Given the description of an element on the screen output the (x, y) to click on. 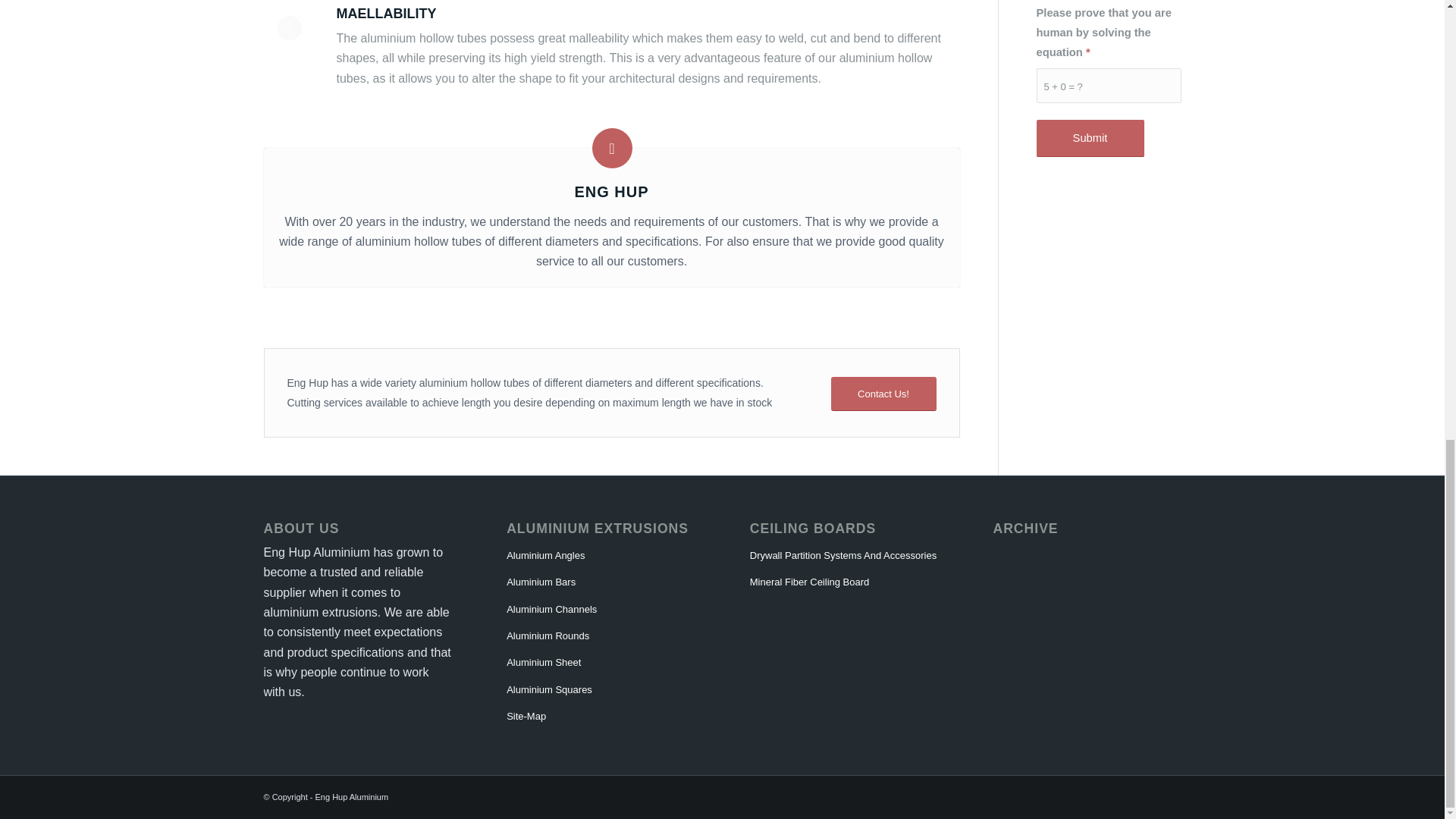
Submit (1088, 138)
Submit (1088, 138)
Contact Us! (883, 393)
